Given the description of an element on the screen output the (x, y) to click on. 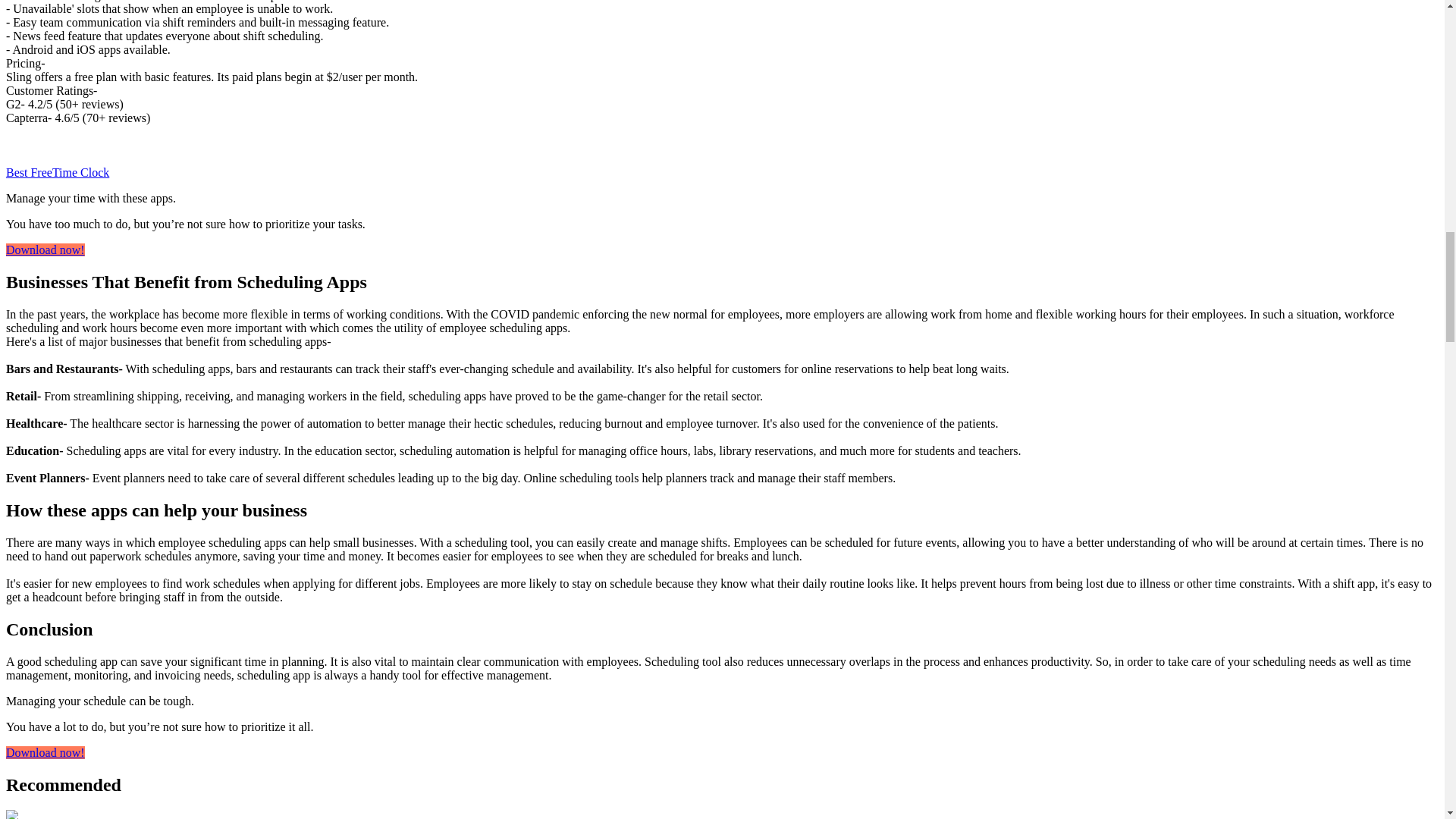
Download now! (44, 249)
Best Free (28, 172)
Download now! (44, 752)
Time Clock (80, 172)
